Given the description of an element on the screen output the (x, y) to click on. 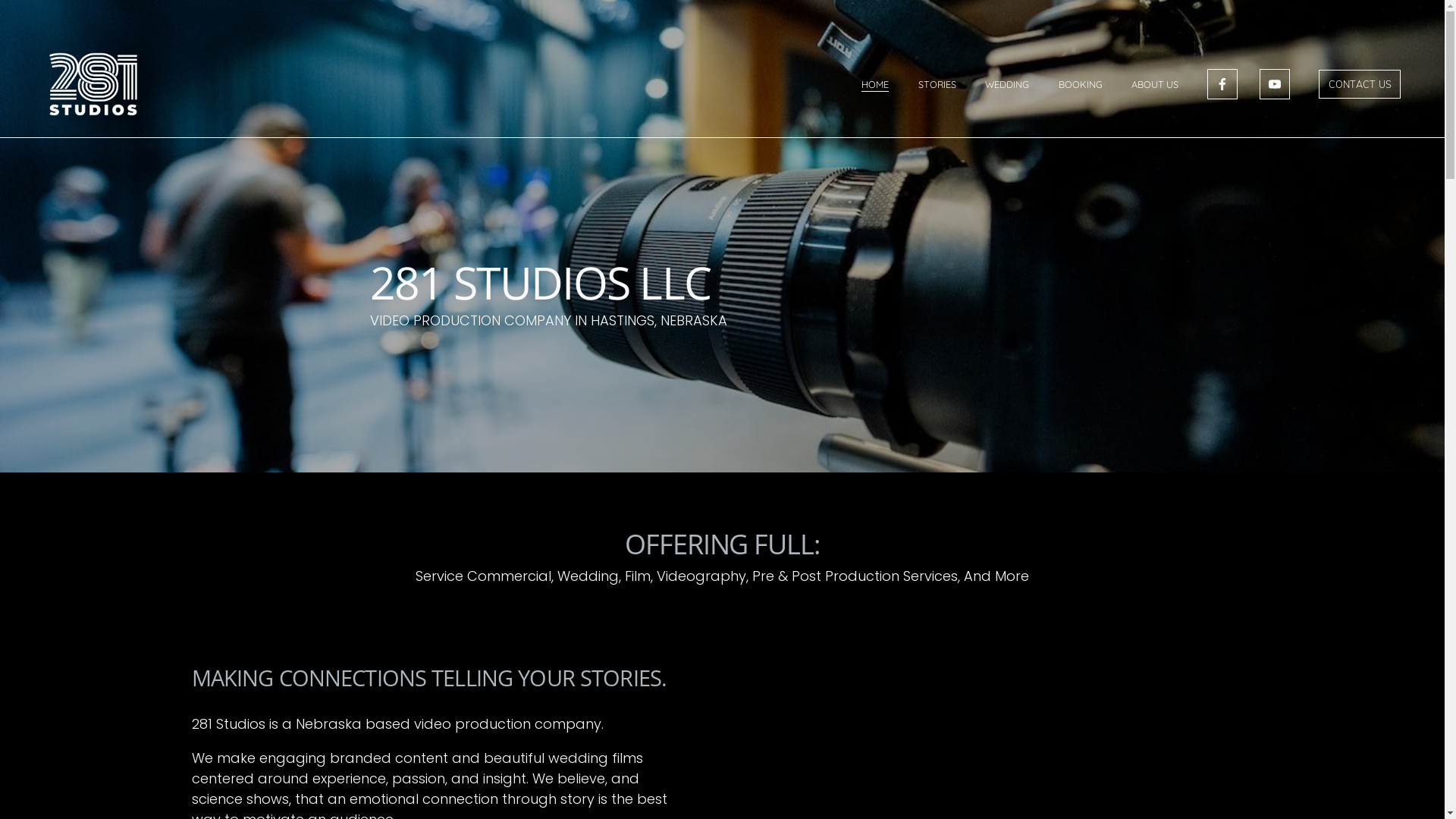
HOME Element type: text (874, 83)
ABOUT US Element type: text (1154, 83)
BOOKING Element type: text (1080, 83)
WEDDING Element type: text (1007, 83)
STORIES Element type: text (937, 83)
CONTACT US Element type: text (1359, 83)
